Given the description of an element on the screen output the (x, y) to click on. 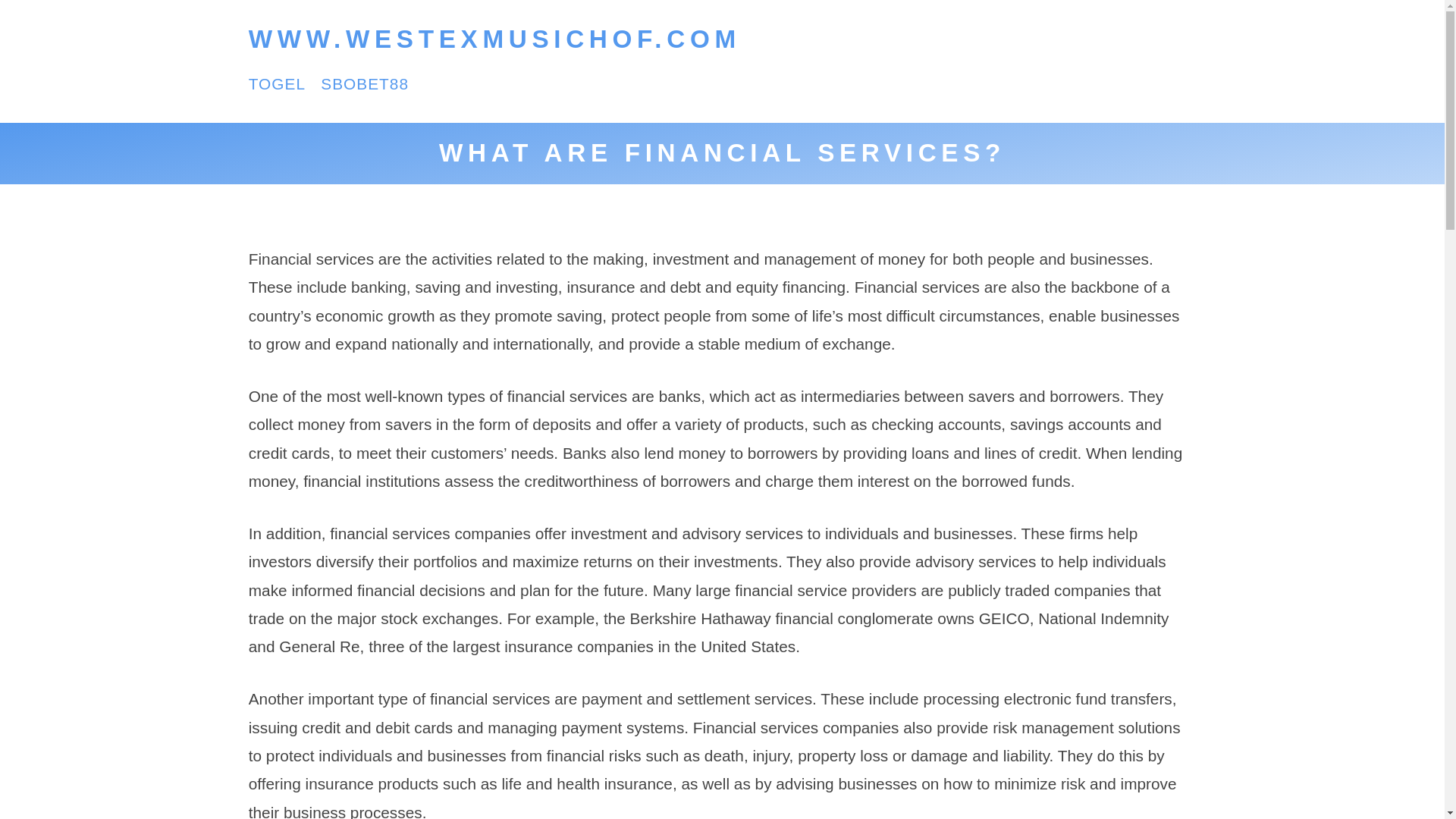
TOGEL (276, 83)
WWW.WESTEXMUSICHOF.COM (494, 39)
SBOBET88 (364, 83)
